Given the description of an element on the screen output the (x, y) to click on. 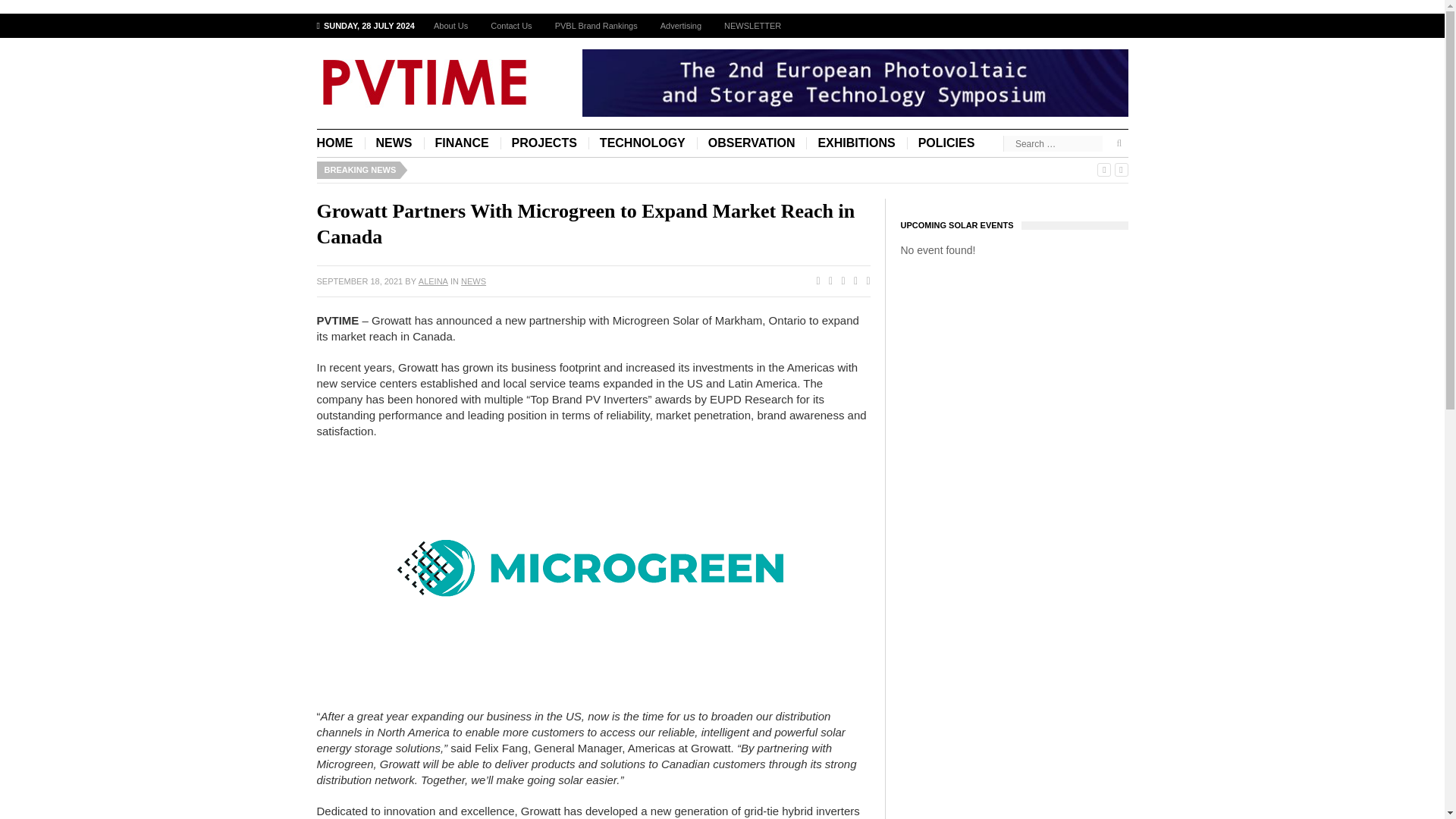
NEWSLETTER (752, 25)
POLICIES (947, 142)
FINANCE (461, 142)
GooglePlus (839, 281)
EXHIBITIONS (855, 142)
TECHNOLOGY (642, 142)
HOME (341, 142)
NEWS (473, 280)
Twitter (827, 281)
About Us (450, 25)
ALEINA (433, 280)
LinkedIn (864, 281)
NEWS (393, 142)
Advertising (681, 25)
Pinterest (852, 281)
